Given the description of an element on the screen output the (x, y) to click on. 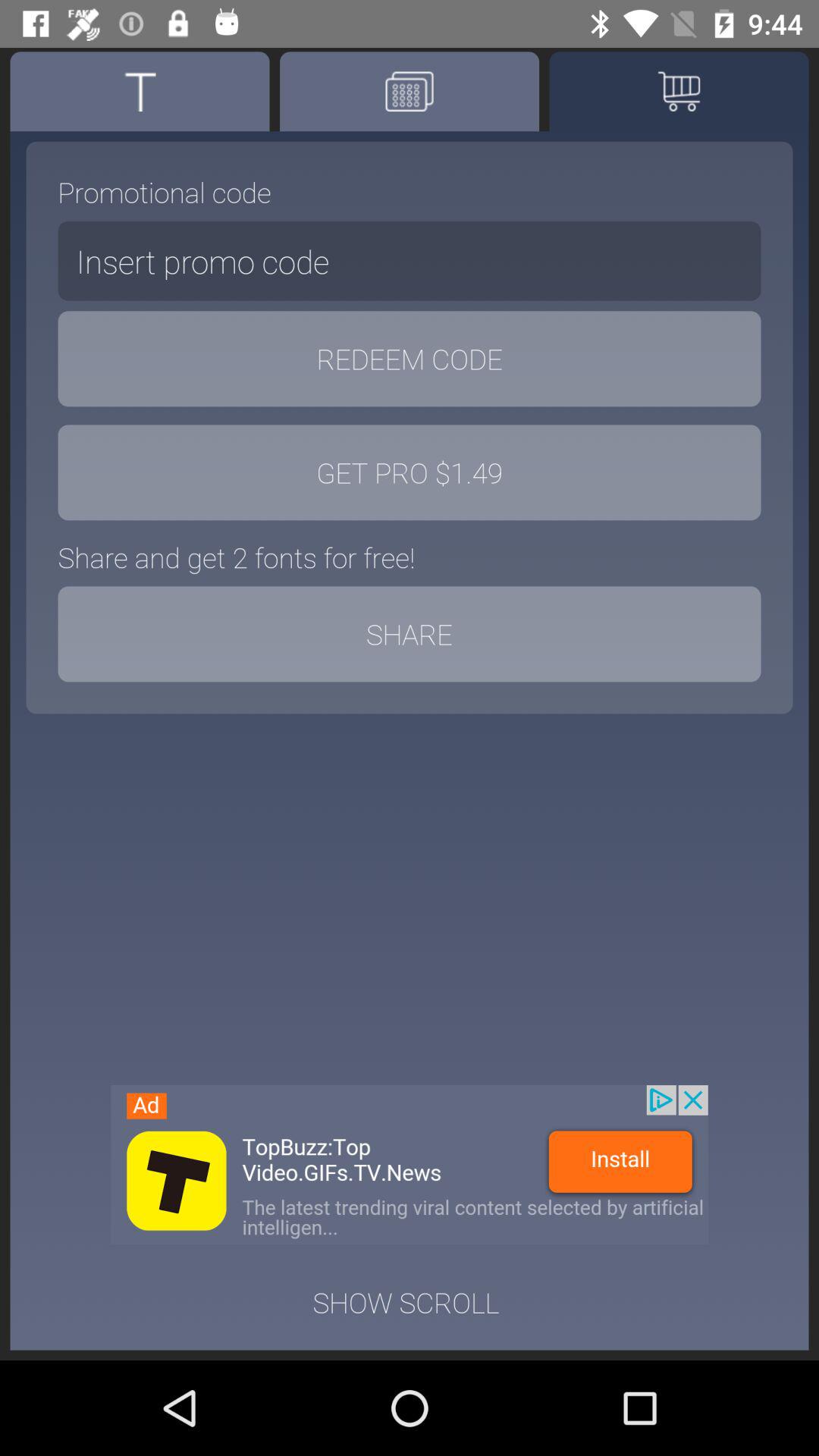
your cart (678, 91)
